Given the description of an element on the screen output the (x, y) to click on. 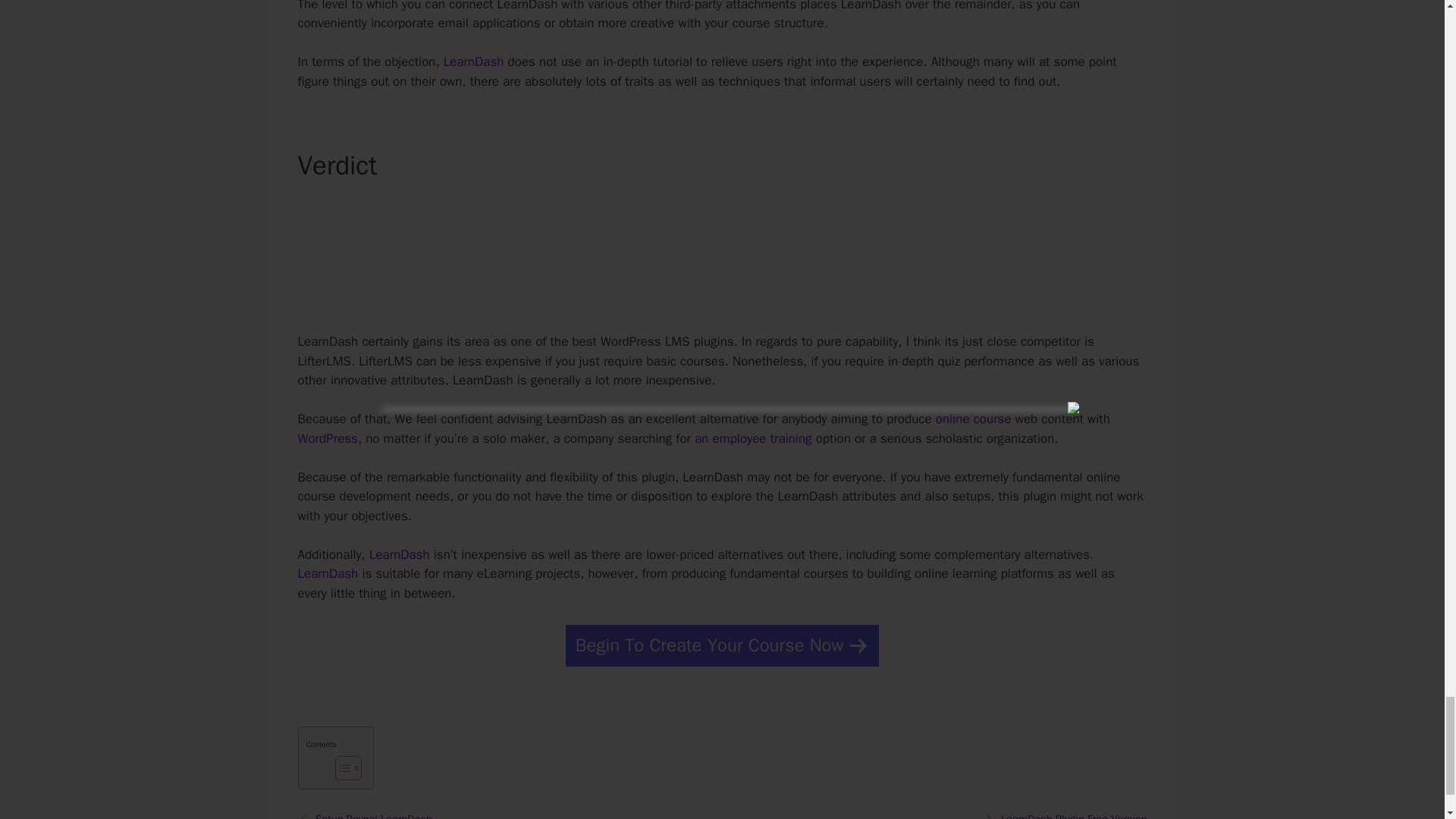
LearnDash Plugin Free Version (1074, 815)
online course (973, 418)
WordPress (326, 438)
Setup Paypal LearnDash (373, 815)
LearnDash (473, 61)
Begin To Create Your Course Now (722, 645)
an employee training (752, 438)
LearnDash (327, 573)
LearnDash (399, 554)
